Given the description of an element on the screen output the (x, y) to click on. 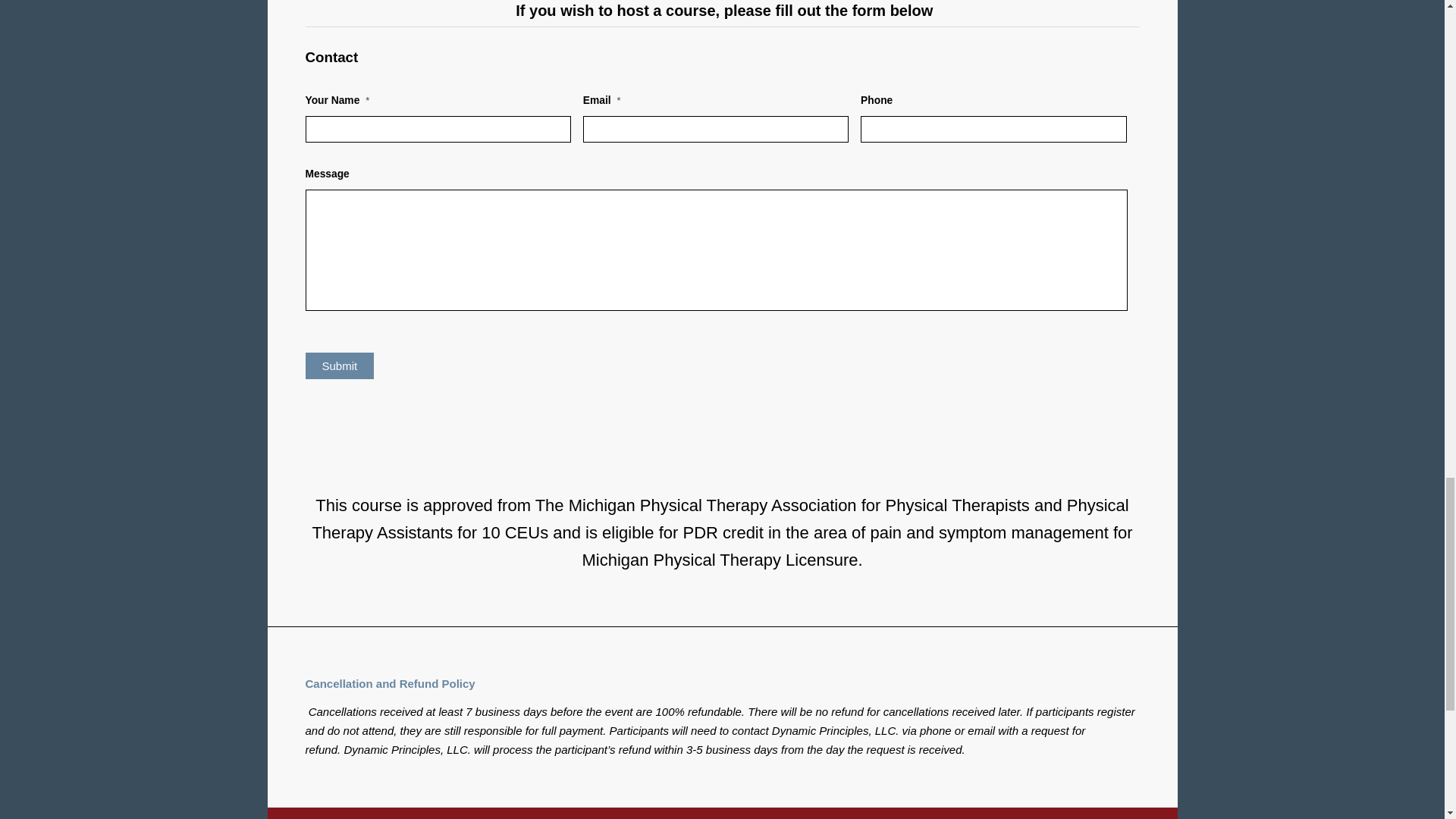
Submit (339, 365)
